Given the description of an element on the screen output the (x, y) to click on. 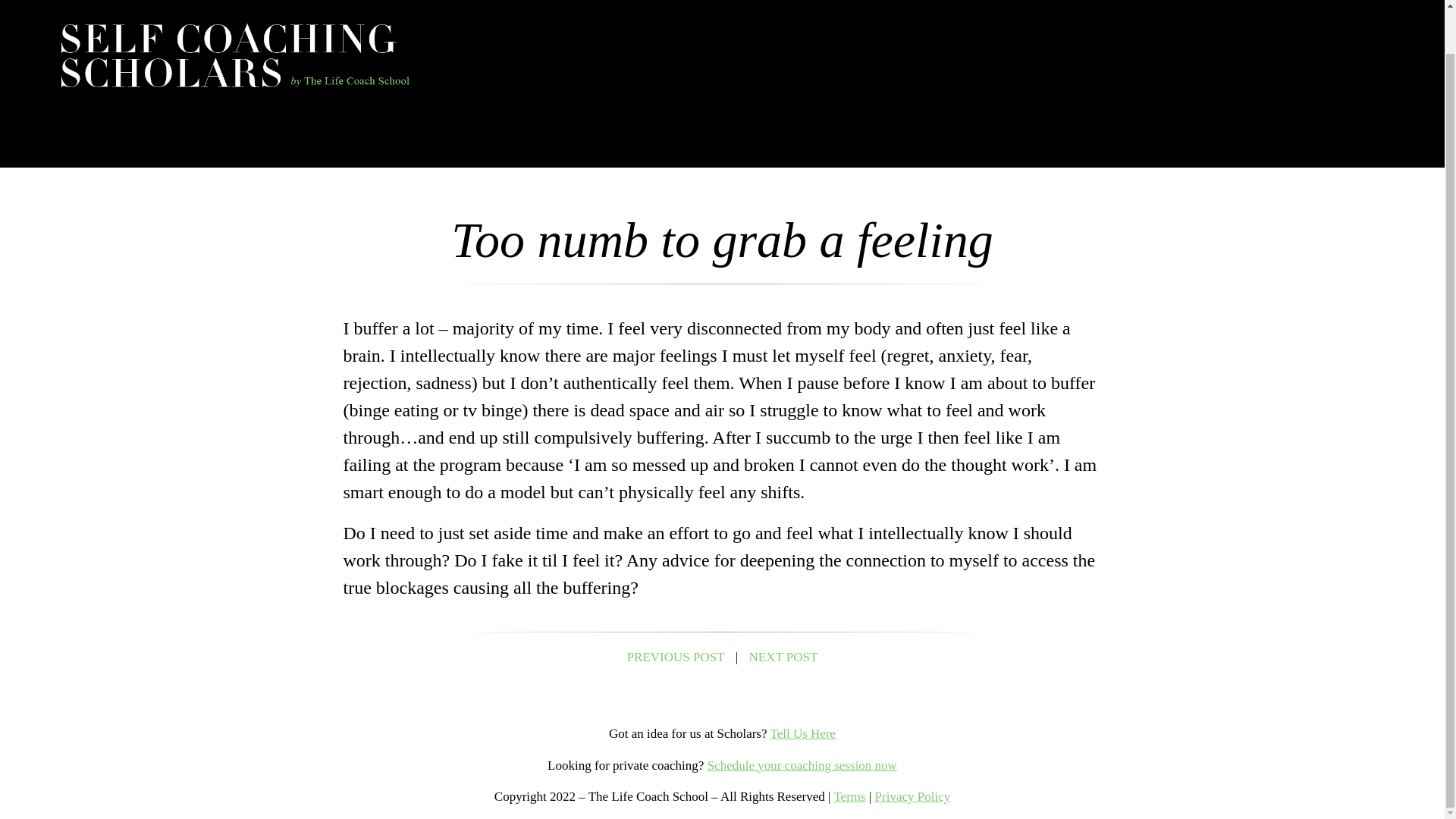
Privacy Policy (912, 796)
PREVIOUS POST (676, 657)
Tell Us Here (802, 733)
Terms (848, 796)
Schedule your coaching session now (801, 765)
NEXT POST (783, 657)
